Given the description of an element on the screen output the (x, y) to click on. 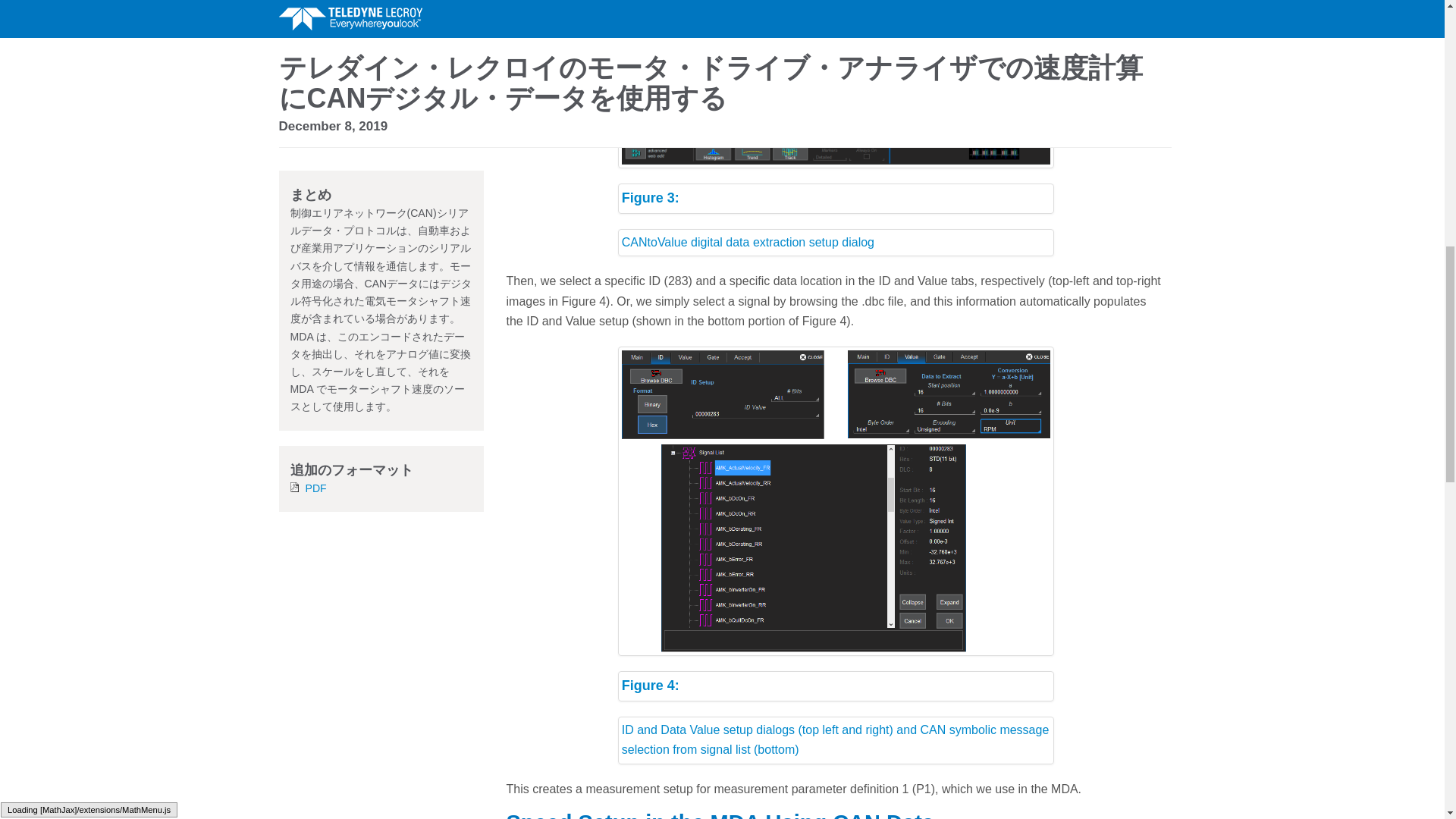
Figure 4: (835, 685)
Figure 3: (835, 198)
CANtoValue digital data extraction setup dialog (835, 242)
